Given the description of an element on the screen output the (x, y) to click on. 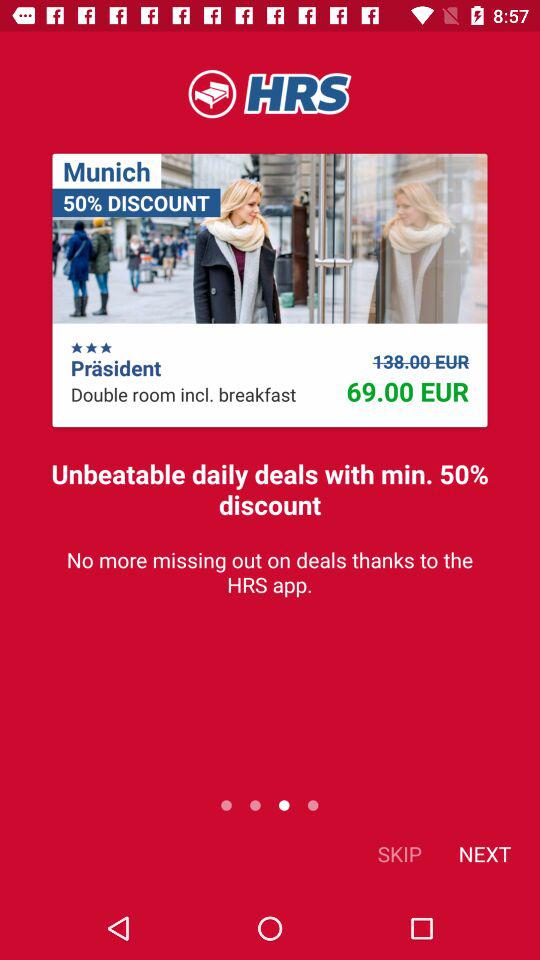
click next (484, 853)
